Given the description of an element on the screen output the (x, y) to click on. 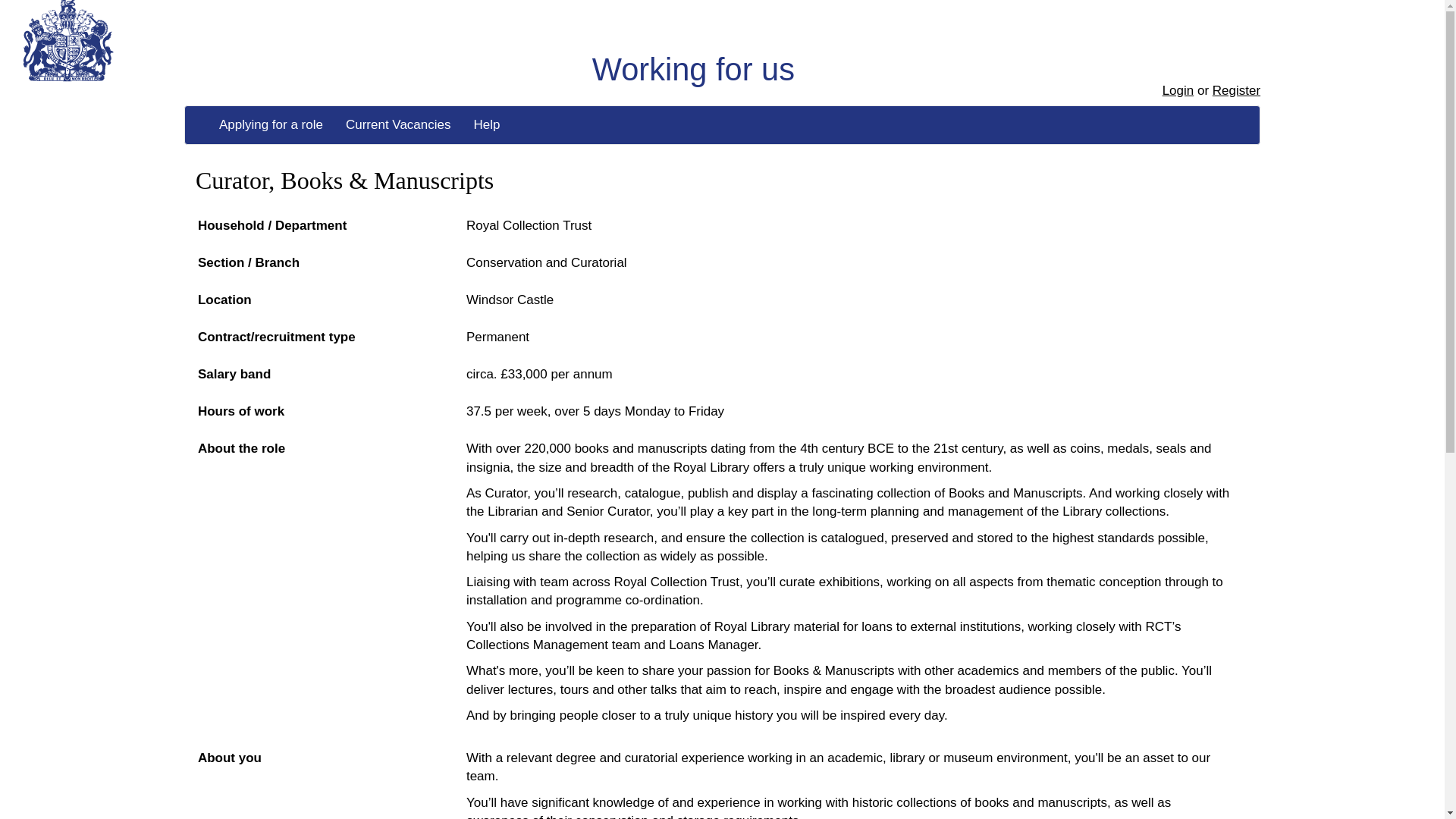
Login (1177, 90)
Current Vacancies (398, 125)
Applying for a role (271, 125)
Help (487, 125)
Register (1236, 90)
